Given the description of an element on the screen output the (x, y) to click on. 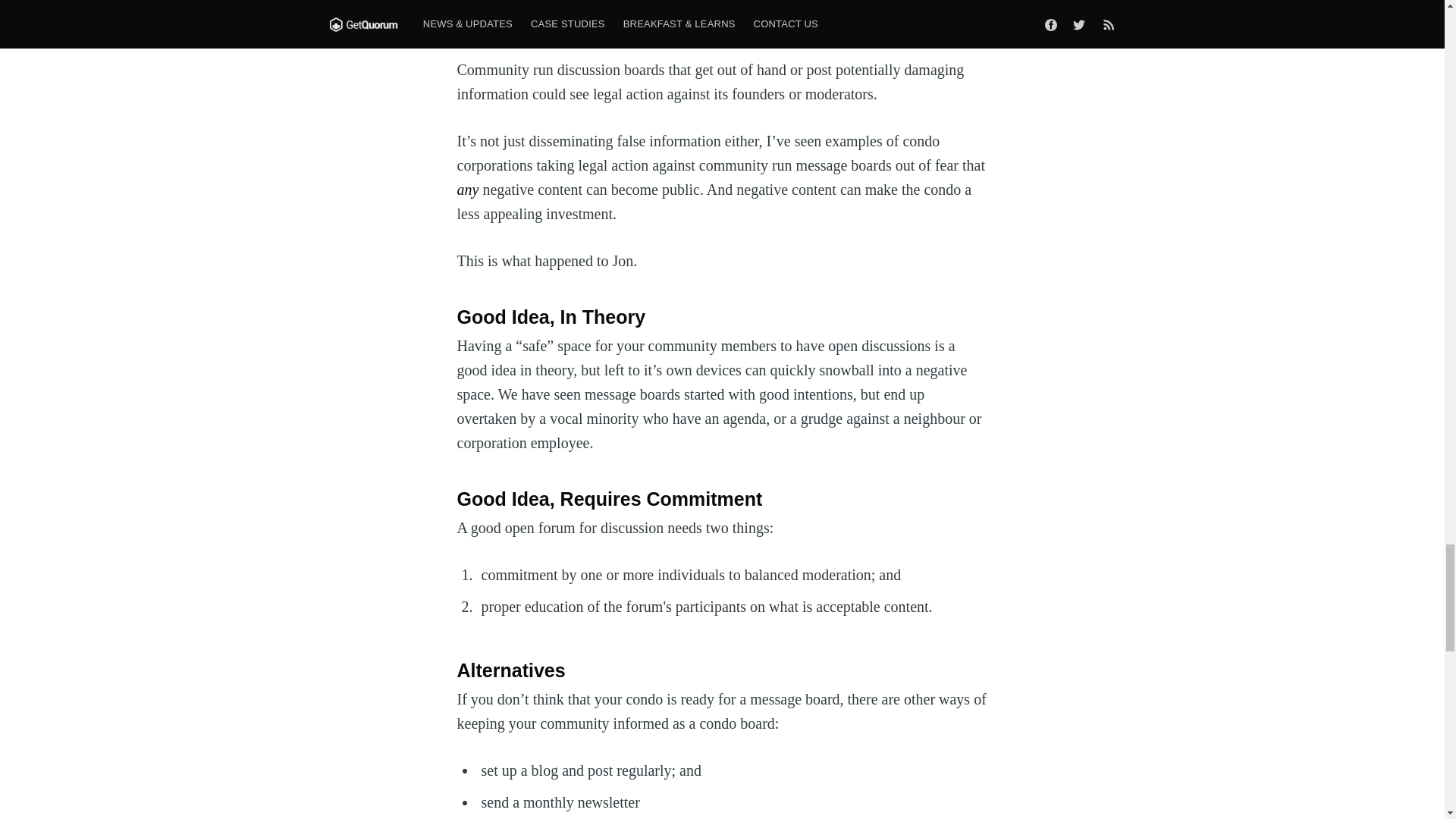
protect the reputation of it's directors from defamation (720, 15)
